Given the description of an element on the screen output the (x, y) to click on. 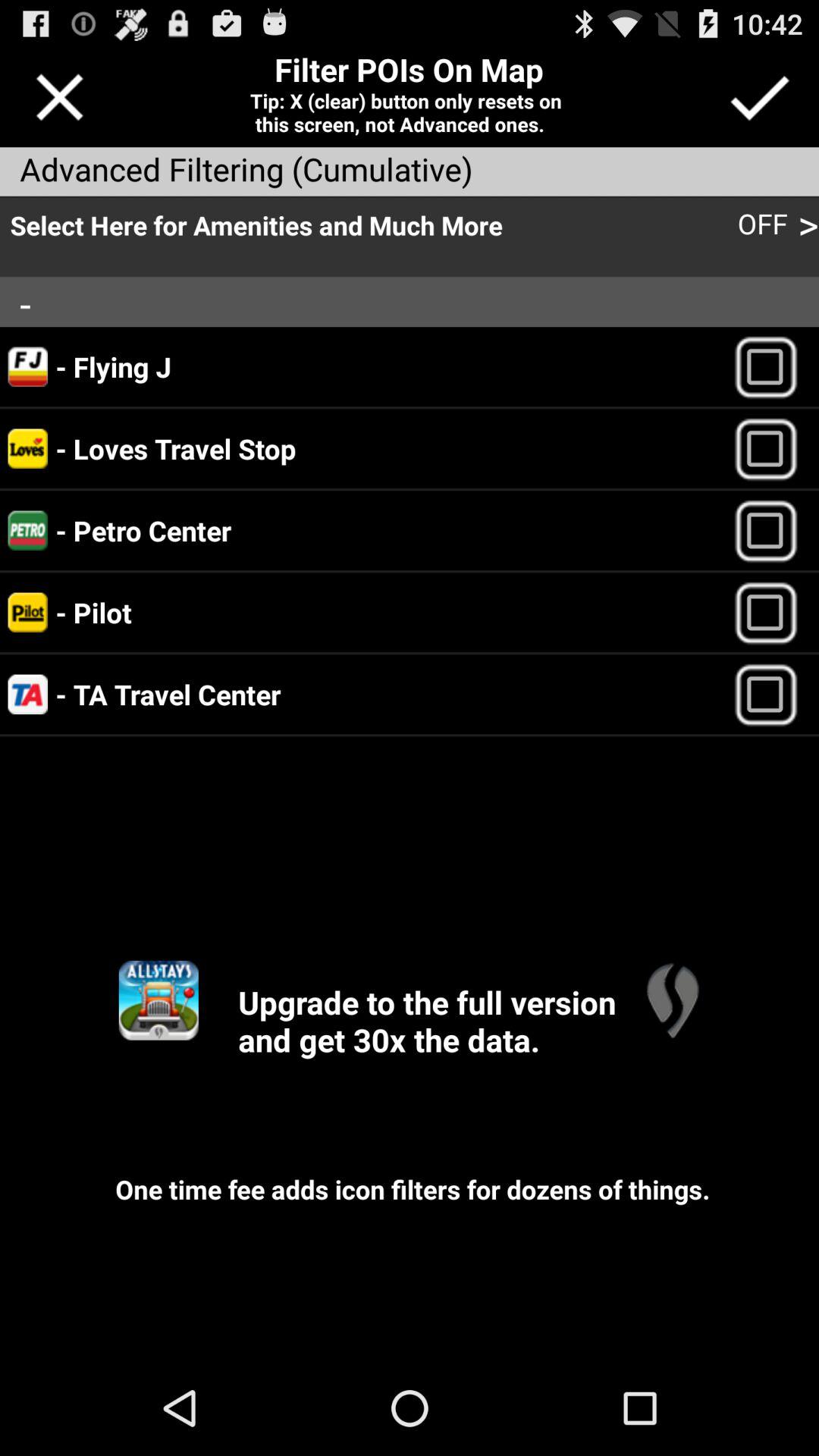
select option (772, 366)
